Given the description of an element on the screen output the (x, y) to click on. 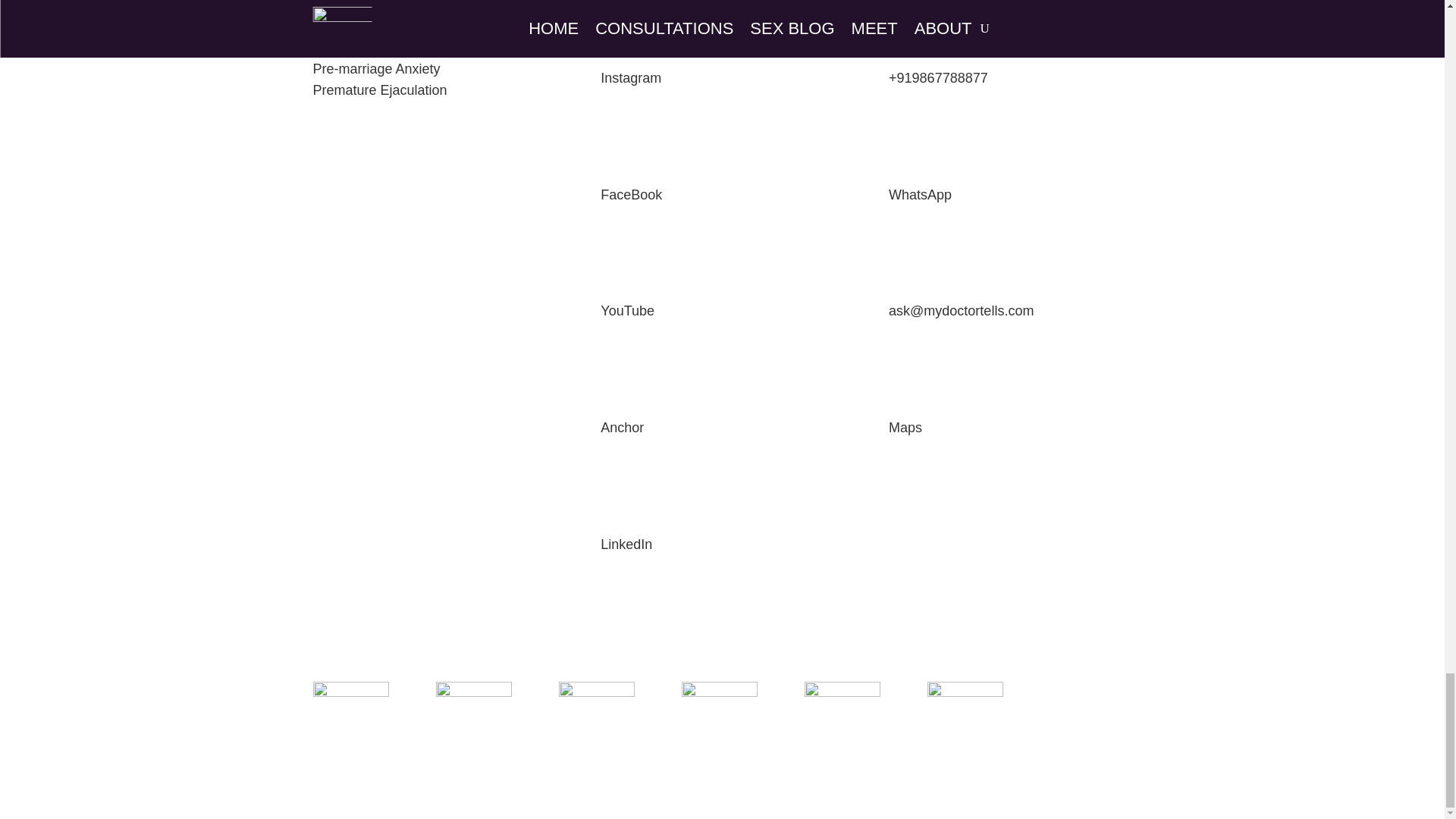
Erectile Dysfunction (372, 26)
Premature Ejaculation (379, 89)
Unconsummated Sex (377, 6)
Vaginismus (347, 47)
Pre-marriage Anxiety (376, 68)
FaceBook (630, 194)
